Given the description of an element on the screen output the (x, y) to click on. 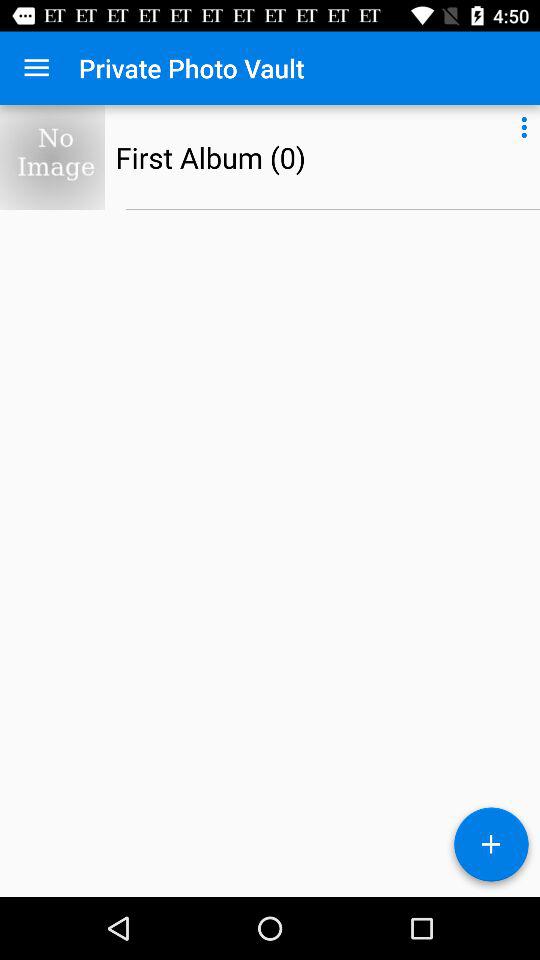
launch icon at the top right corner (524, 124)
